Given the description of an element on the screen output the (x, y) to click on. 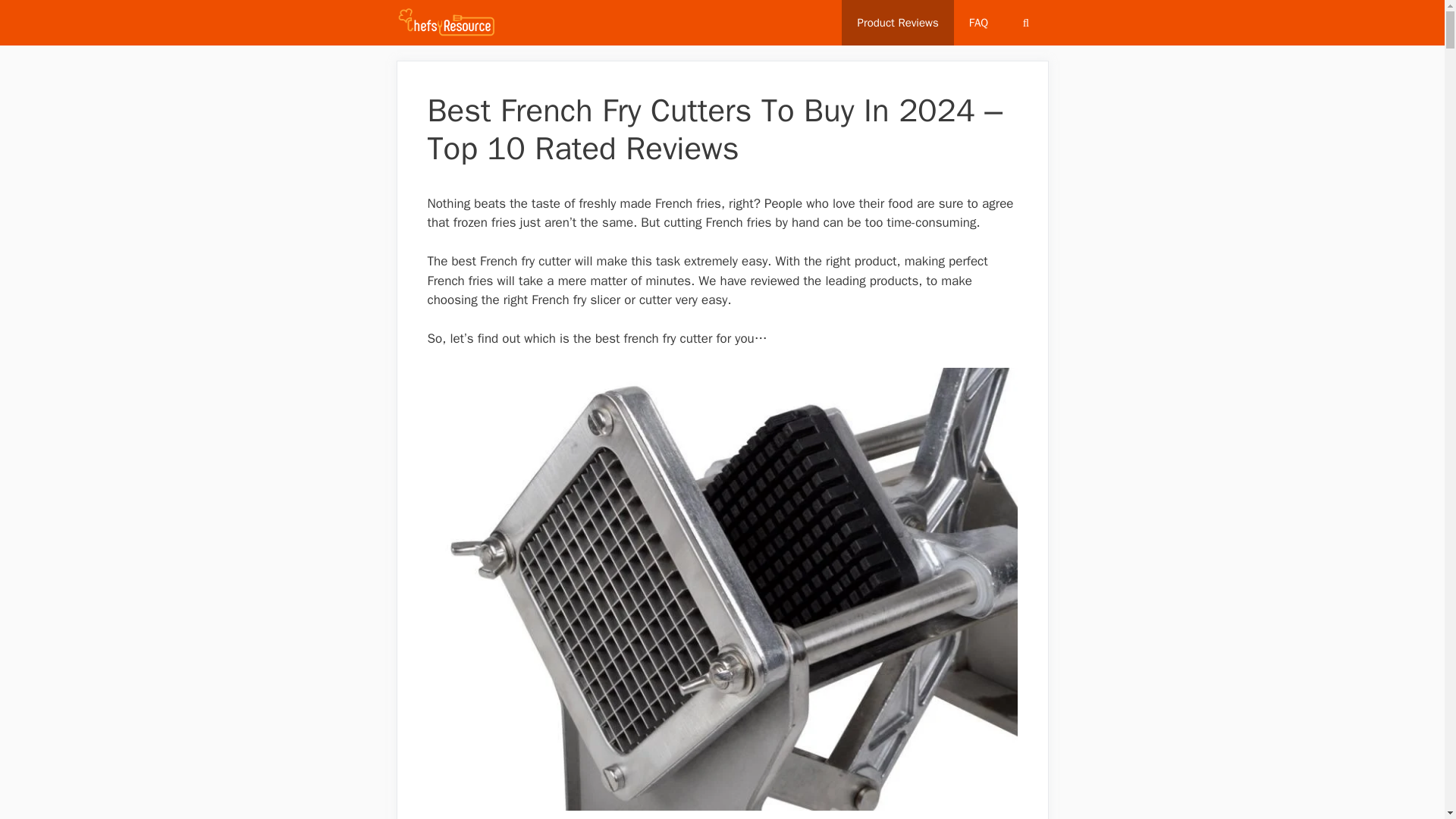
FAQ (978, 22)
Chef's Resource (449, 22)
Chef's Resource (446, 22)
Product Reviews (897, 22)
